Given the description of an element on the screen output the (x, y) to click on. 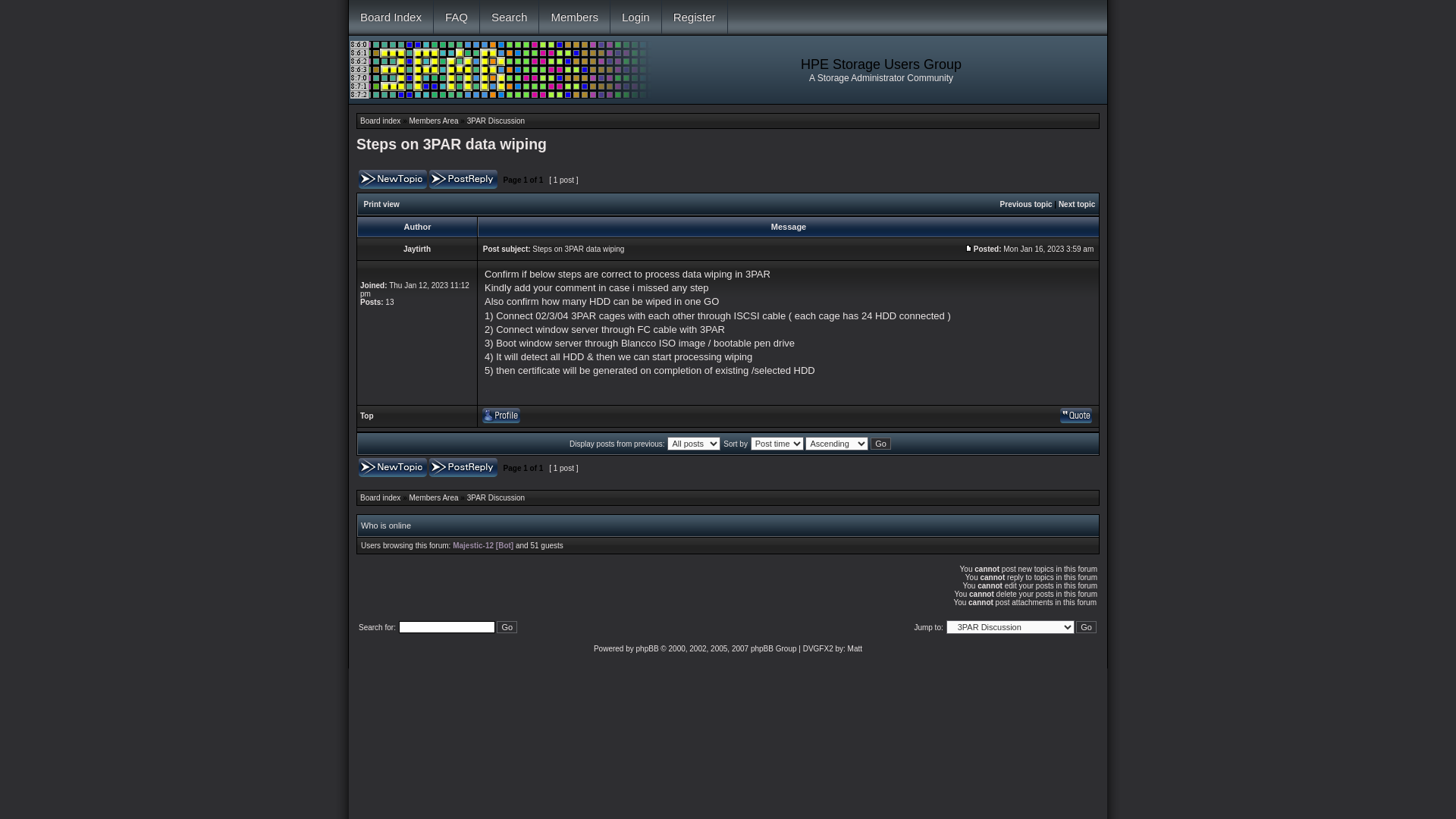
Register Element type: text (695, 17)
Reply to topic Element type: hover (463, 178)
FAQ Element type: text (456, 17)
Go Element type: text (880, 442)
Top Element type: text (366, 415)
Board index Element type: text (380, 120)
Print view Element type: text (381, 204)
3PAR Discussion Element type: text (496, 496)
Reply with quote Element type: hover (1076, 415)
Board Index Element type: text (390, 17)
Login Element type: text (636, 17)
Go Element type: text (506, 626)
Members Area Element type: text (433, 120)
Post new topic Element type: hover (392, 178)
3PAR Discussion Element type: text (496, 120)
Previous topic Element type: text (1026, 204)
Next topic Element type: text (1076, 204)
Go Element type: text (1086, 626)
Members Element type: text (574, 17)
Members Area Element type: text (433, 496)
Post new topic Element type: hover (392, 467)
Reply to topic Element type: hover (463, 467)
Profile Element type: hover (501, 415)
Board index Element type: text (380, 496)
Steps on 3PAR data wiping Element type: text (451, 143)
Post Element type: hover (968, 247)
Search Element type: text (509, 17)
Matt Element type: text (854, 648)
phpBB Element type: text (647, 648)
